Given the description of an element on the screen output the (x, y) to click on. 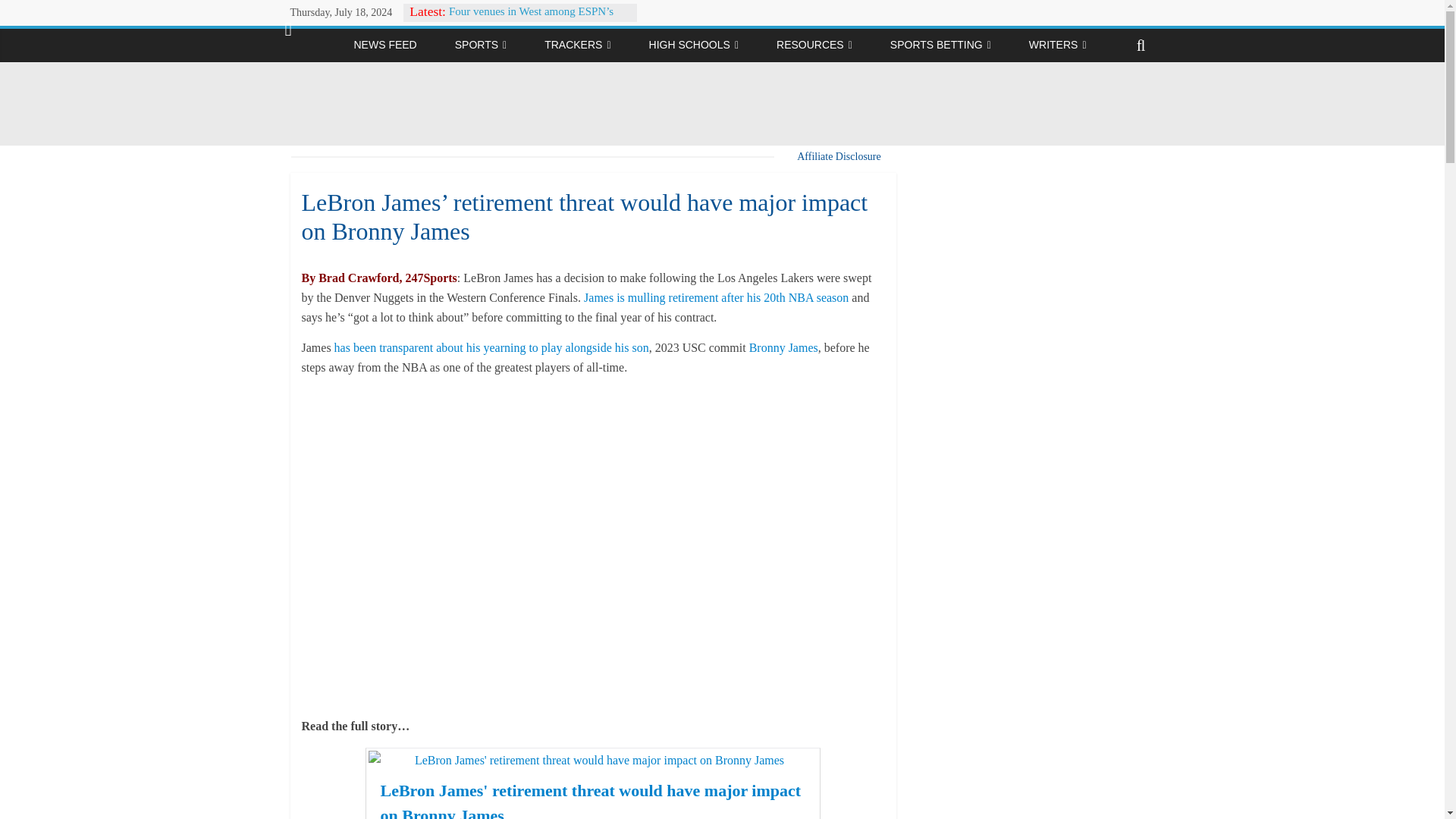
NEWS FEED (384, 44)
SuperWest Sports (316, 44)
SPORTS (480, 44)
